Given the description of an element on the screen output the (x, y) to click on. 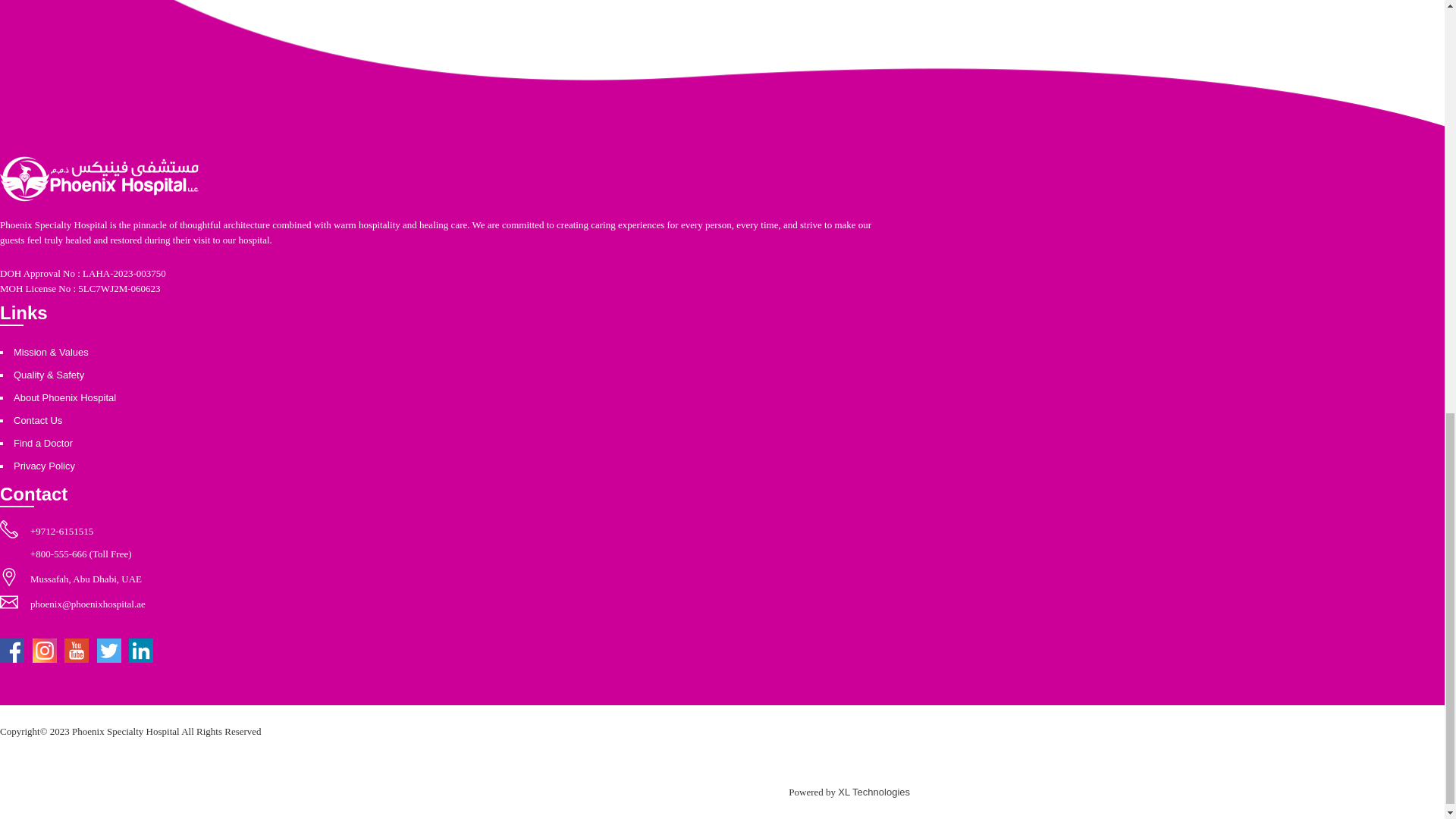
Privacy Policy (44, 465)
Find a Doctor (42, 442)
XL Technologies (874, 791)
About Phoenix Hospital (64, 397)
Contact Us (37, 419)
